Given the description of an element on the screen output the (x, y) to click on. 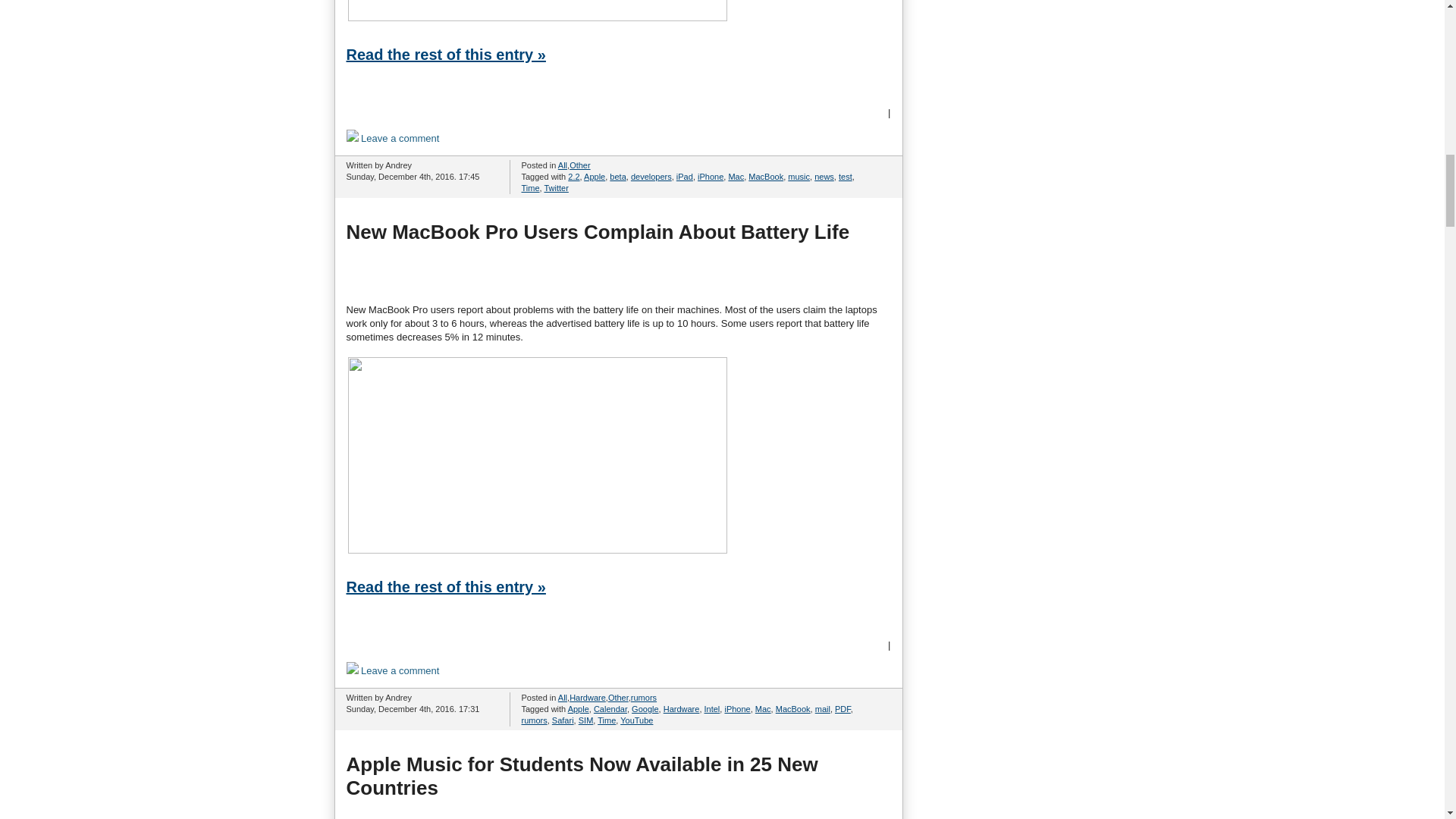
View all posts in All (562, 164)
View all posts in rumors (643, 696)
View all posts in All (562, 696)
View all posts in Other (580, 164)
View all posts in Hardware (587, 696)
View all posts in Other (618, 696)
